Given the description of an element on the screen output the (x, y) to click on. 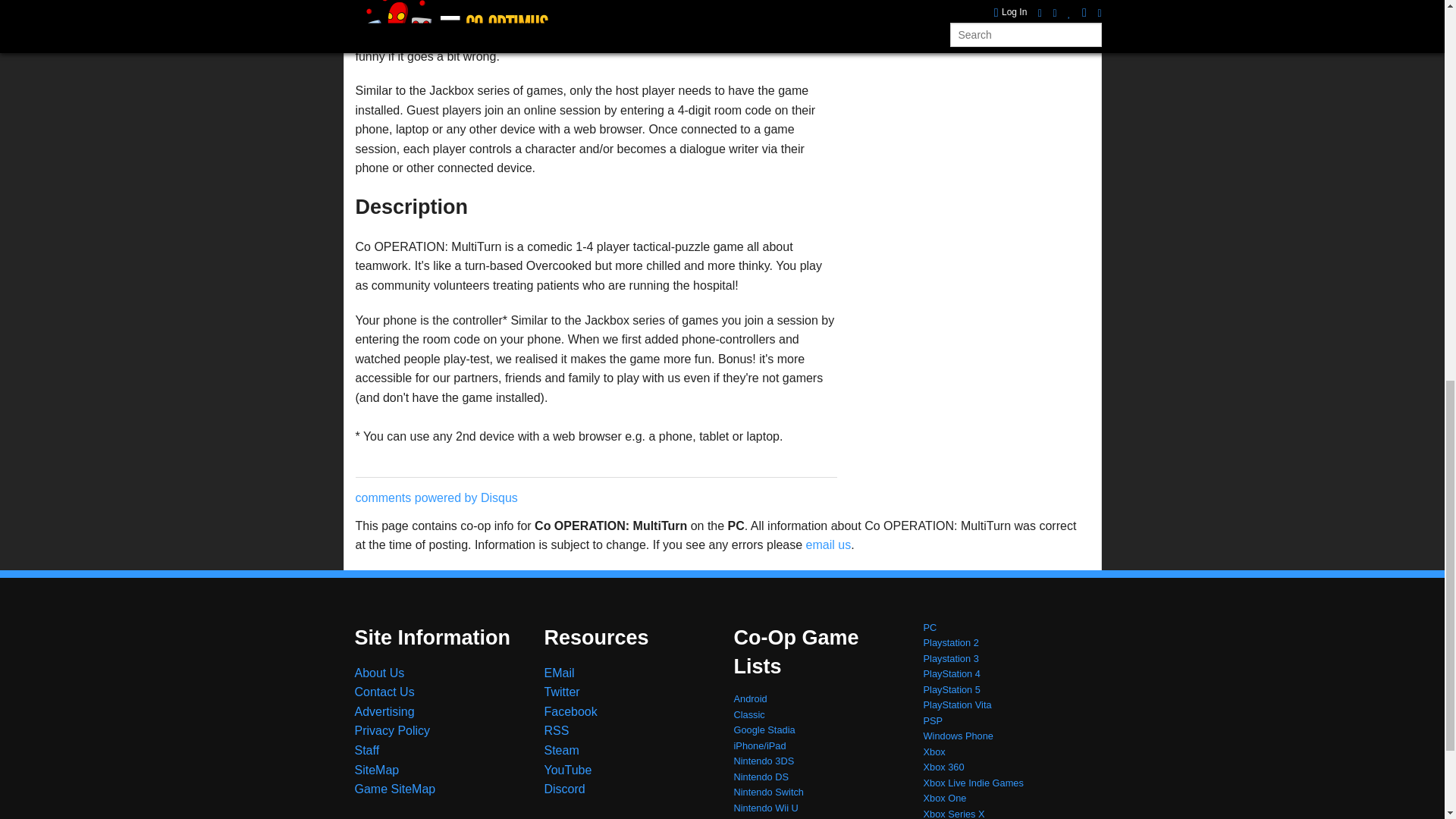
Our current staff and bios. (367, 749)
Advertising rates and traffic numbers. (384, 711)
comments powered by Disqus (435, 497)
Join our Steam Group! (561, 749)
